Given the description of an element on the screen output the (x, y) to click on. 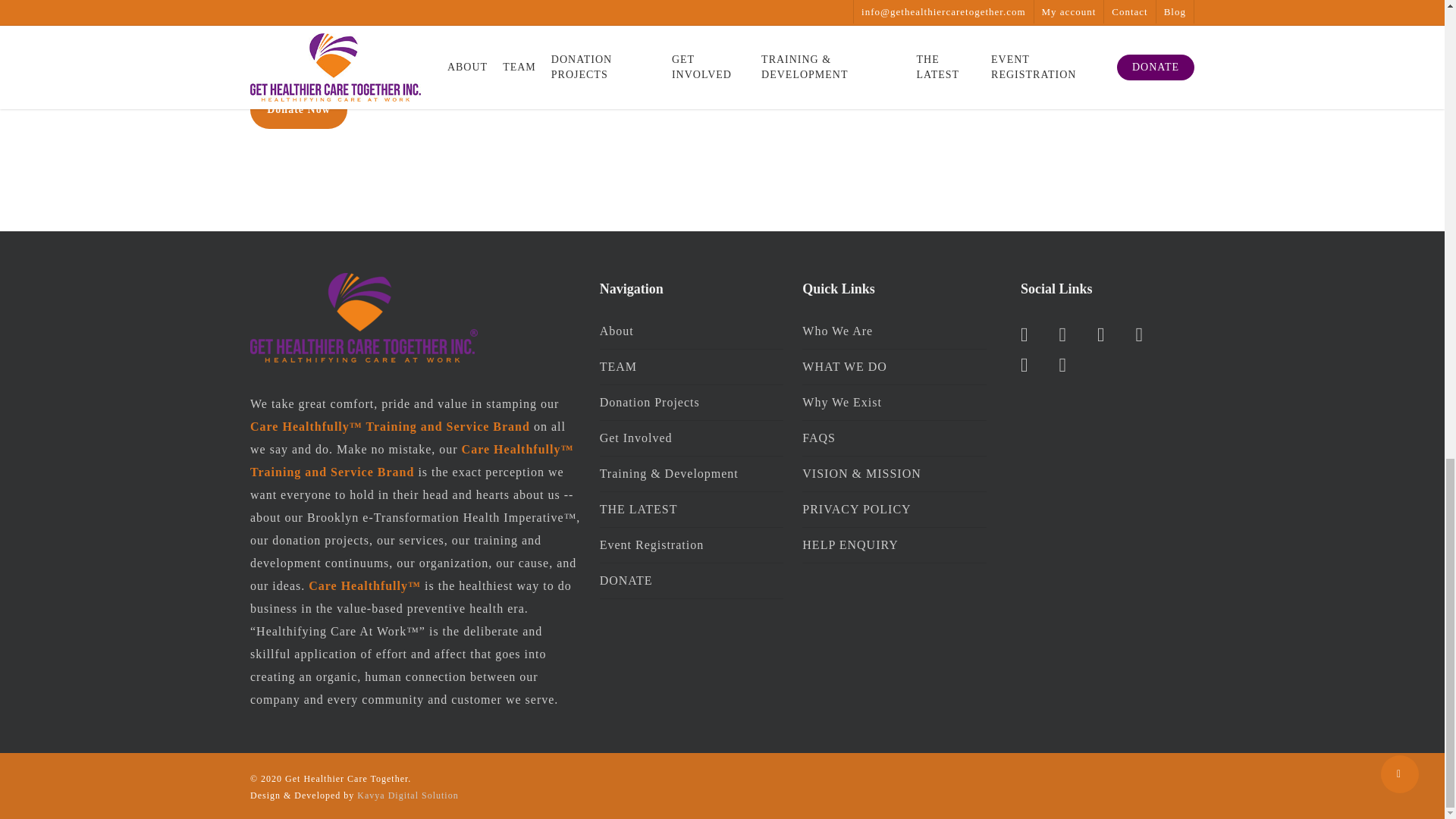
Who We Are (894, 334)
PRIVACY POLICY (894, 509)
Event Registration (691, 544)
Donate Now (298, 109)
DONATE (691, 580)
HELP ENQUIRY (894, 544)
Get Involved (691, 437)
WHAT WE DO (894, 366)
THE LATEST (691, 509)
About (691, 334)
FAQS (894, 437)
TEAM (691, 366)
Why We Exist (894, 402)
Donation Projects (691, 402)
